Given the description of an element on the screen output the (x, y) to click on. 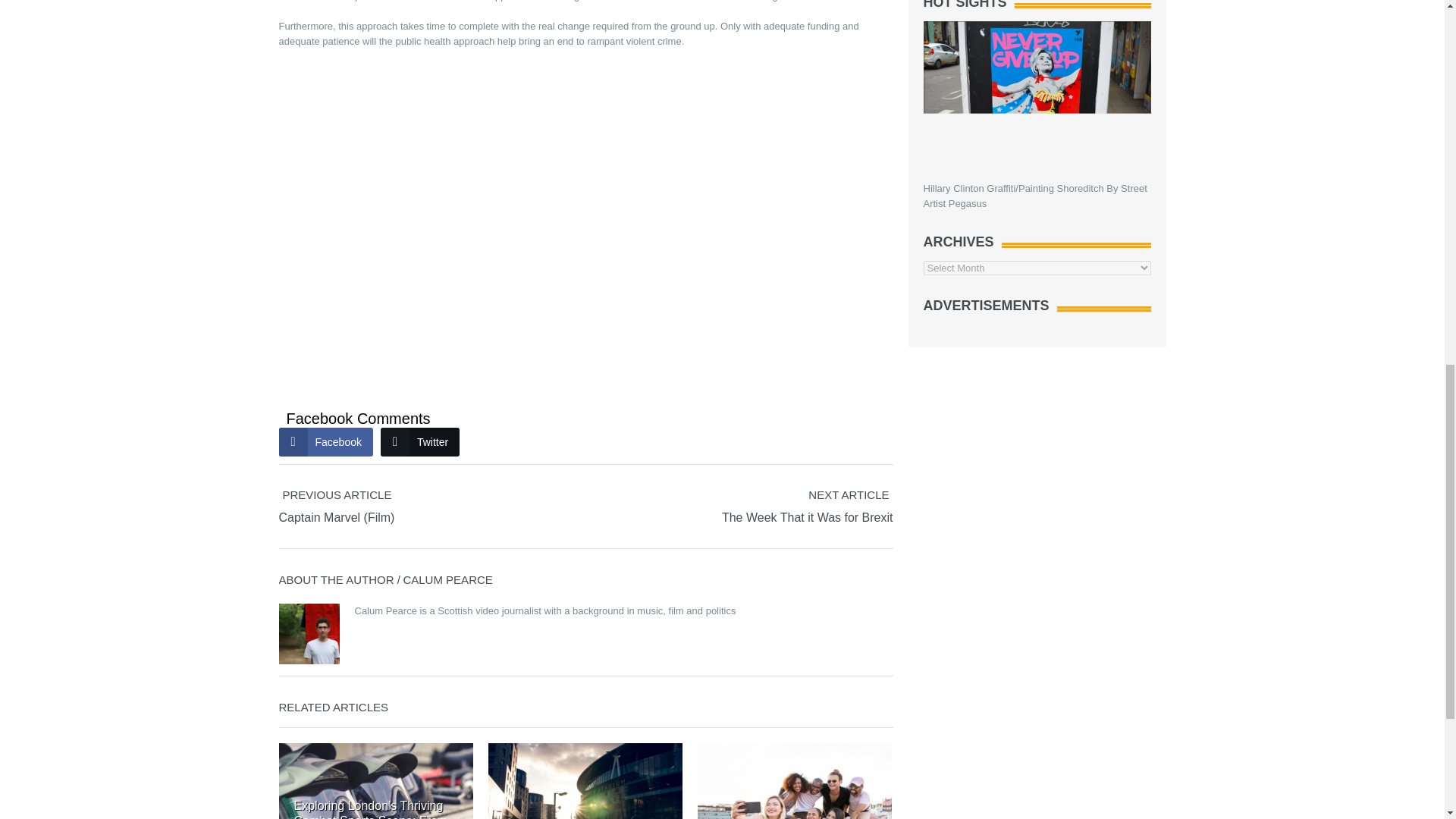
The Week That it Was for Brexit (807, 517)
PREVIOUS ARTICLE (432, 506)
Twitter (420, 441)
NEXT ARTICLE (961, 506)
Posts by Calum Pearce (447, 579)
Facebook (325, 441)
CALUM PEARCE (447, 579)
